Given the description of an element on the screen output the (x, y) to click on. 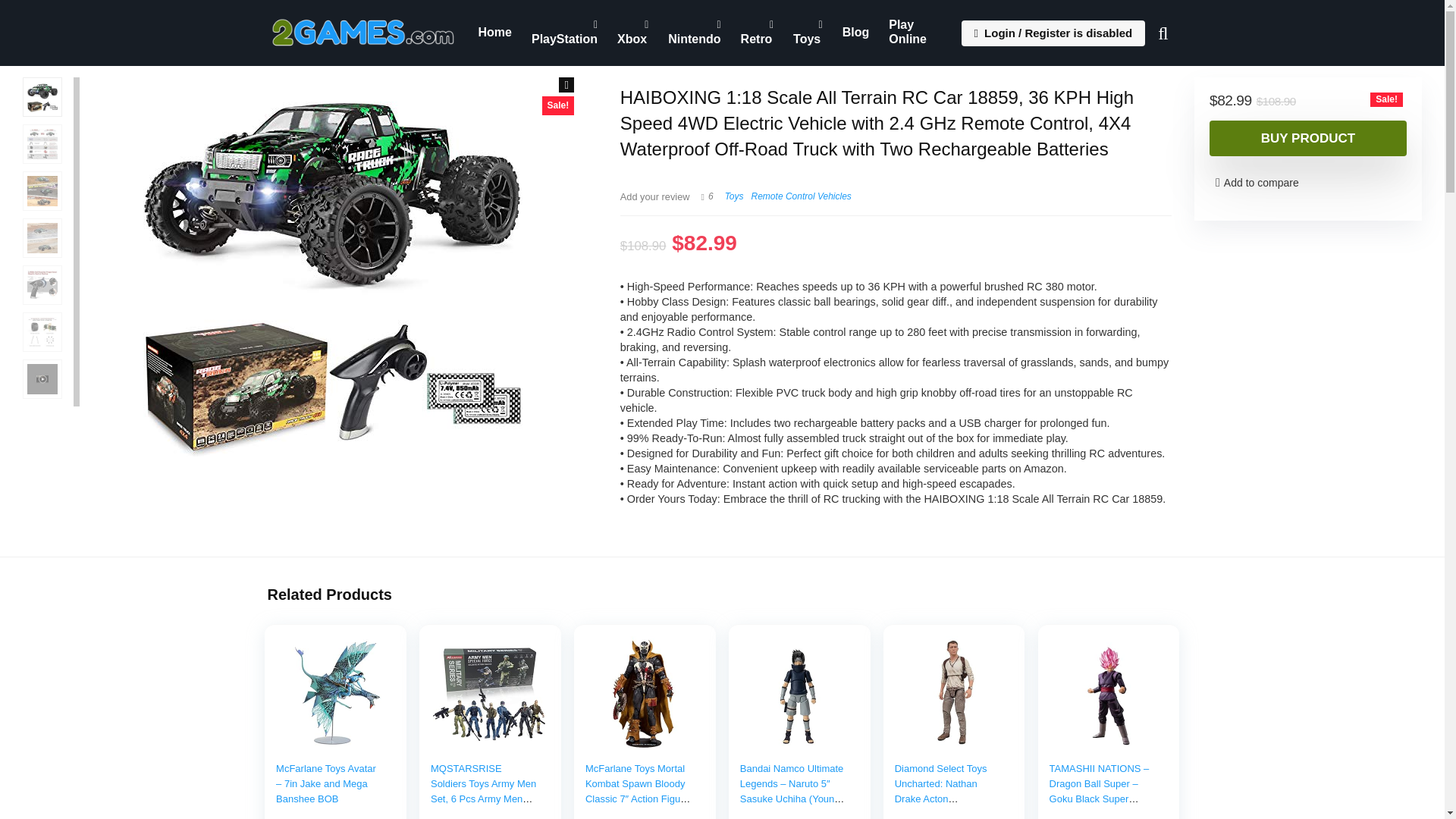
Nintendo (694, 32)
Toys (807, 32)
Add your review (655, 196)
View all posts in Toys (734, 195)
Home (494, 32)
PlayStation (564, 32)
Blog (855, 32)
Retro (756, 32)
View all posts in Remote Control Vehicles (801, 195)
Play Online (916, 32)
Xbox (632, 32)
